Given the description of an element on the screen output the (x, y) to click on. 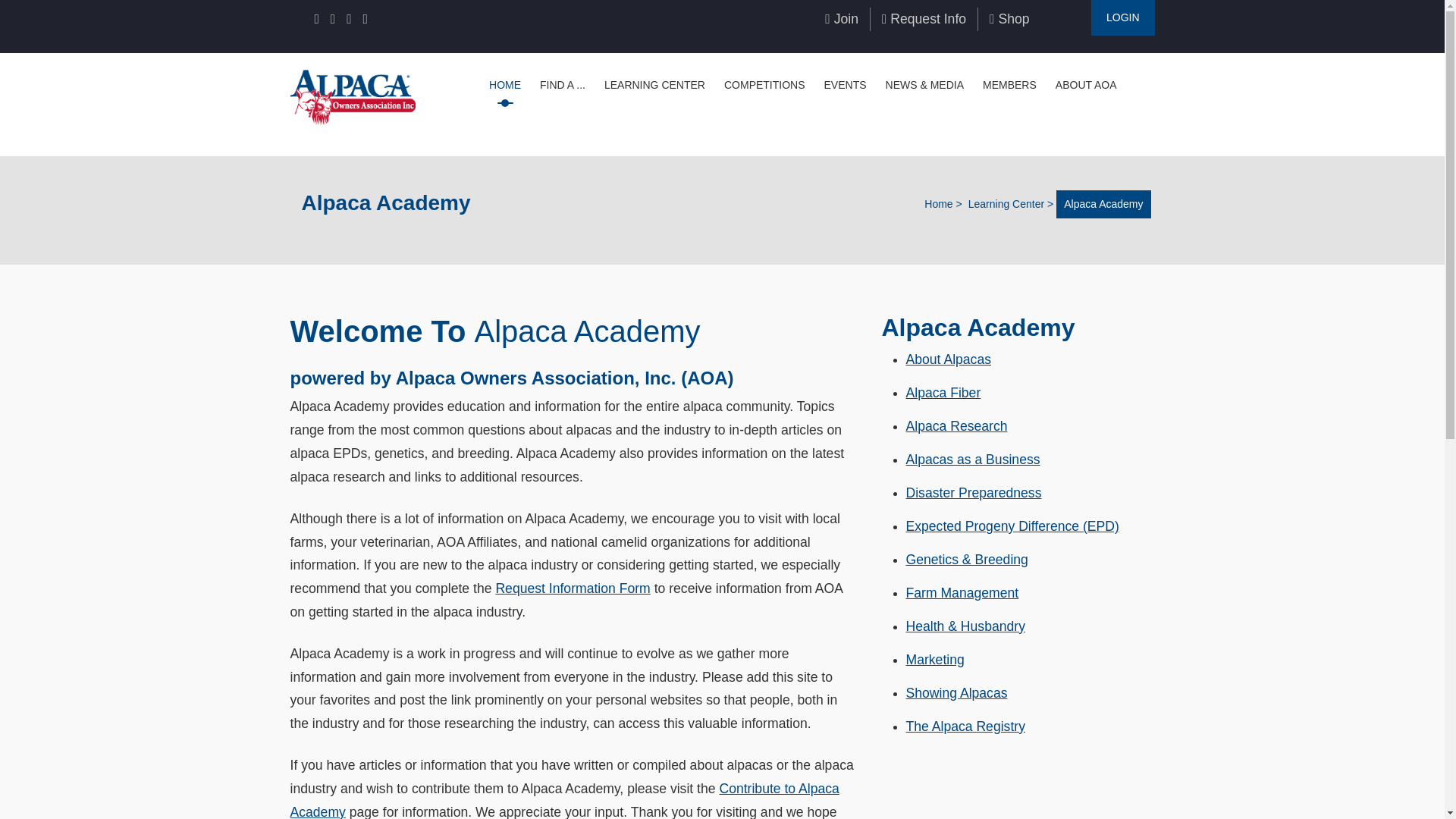
Member Dashboard (1122, 18)
Request Info (924, 18)
Join Alpaca Owners Association (842, 18)
Request Information on Alpacas (924, 18)
Shop (1009, 18)
Alpaca Owners Association, Inc. (351, 95)
LOGIN (1122, 18)
Join (842, 18)
